Given the description of an element on the screen output the (x, y) to click on. 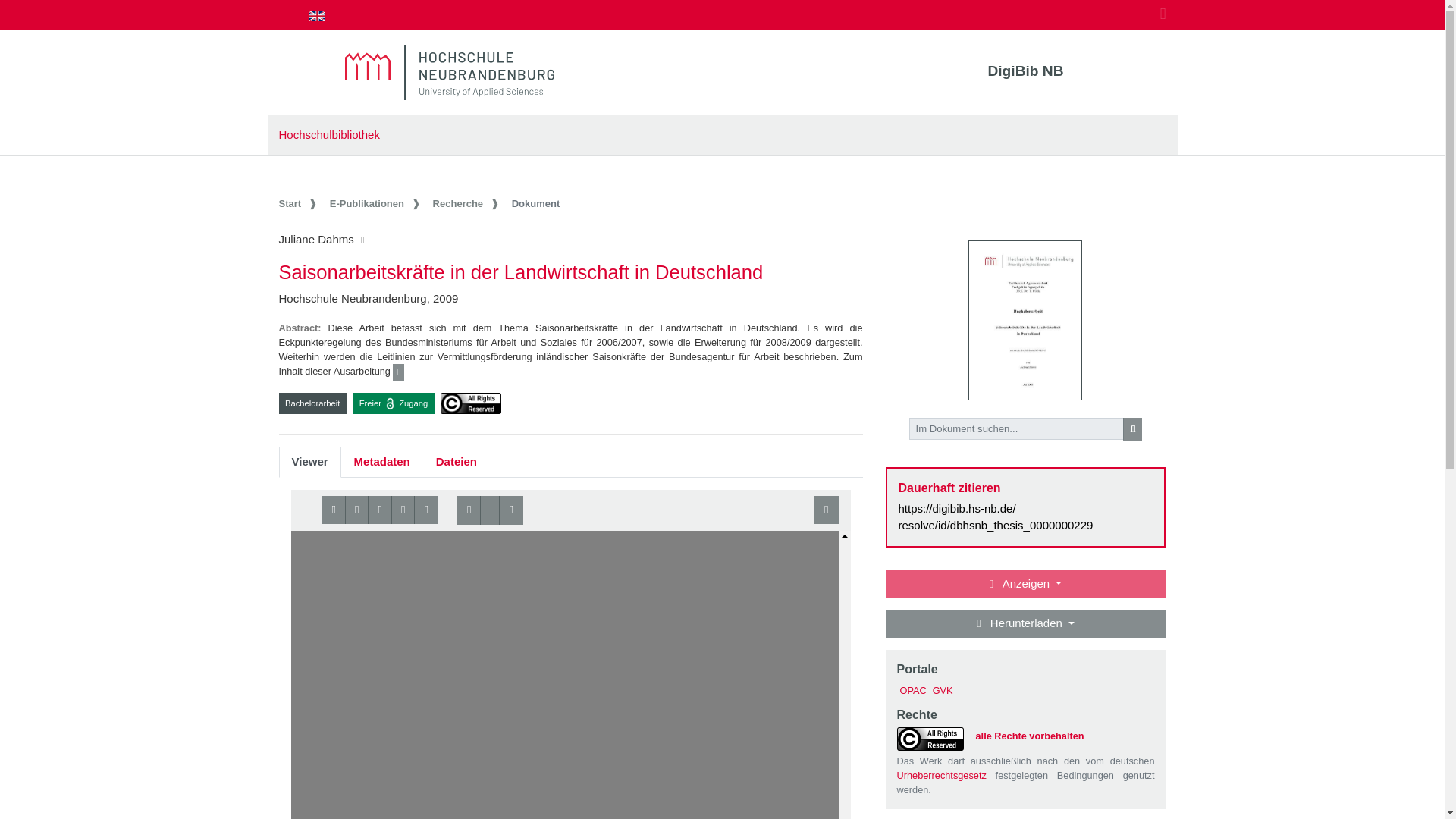
DigiBib NB (1024, 70)
Hochschulbibliothek (329, 133)
Start (300, 202)
E-Publikationen (376, 202)
Metadaten (381, 461)
Recherche (467, 202)
Dateien (456, 461)
page in English (316, 15)
Viewer (309, 461)
